Given the description of an element on the screen output the (x, y) to click on. 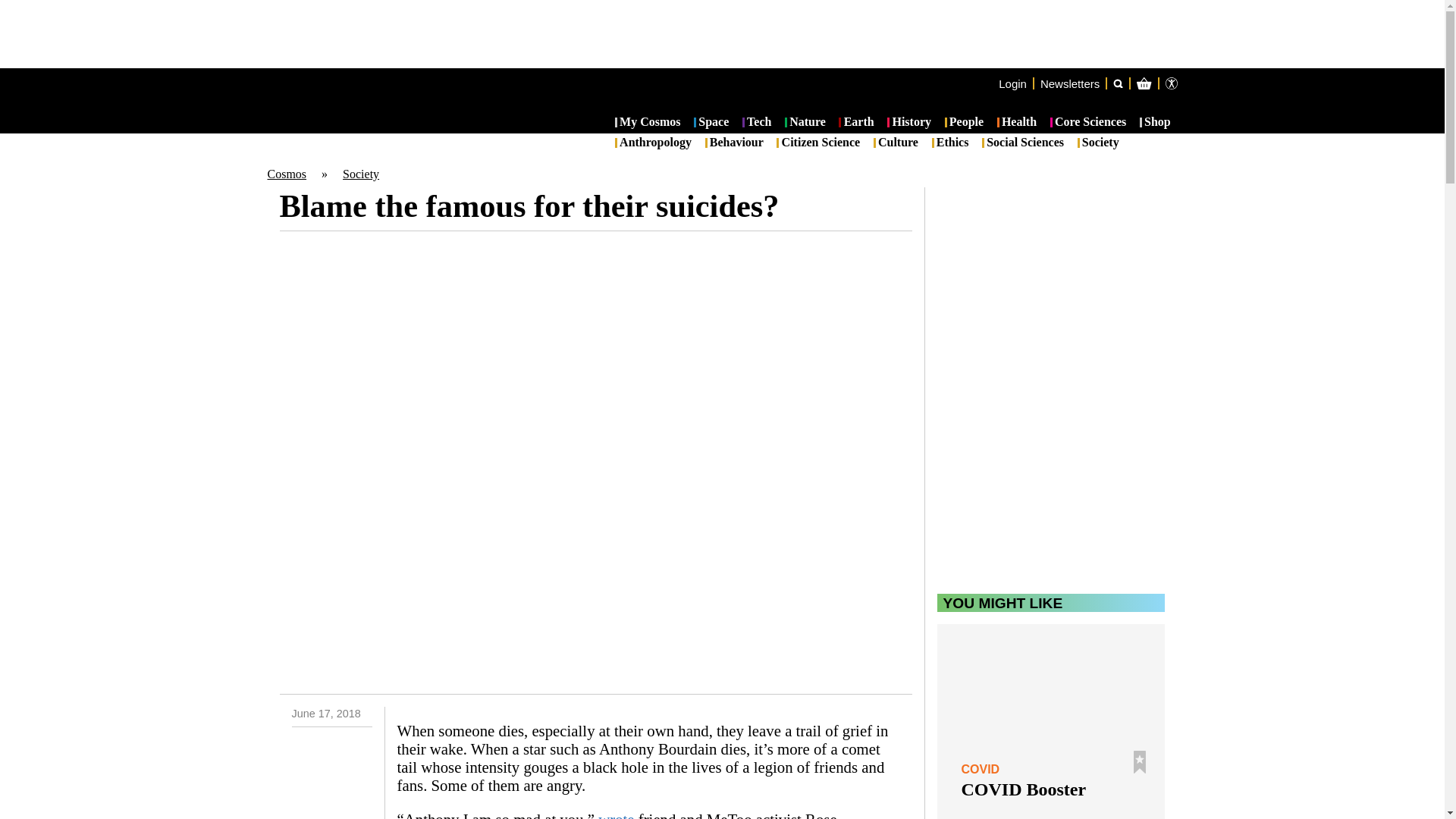
Shop (1155, 122)
Culture (895, 143)
Cart (1227, 144)
Society (360, 173)
Citizen Science (818, 143)
Earth (855, 122)
Login (1012, 82)
History (908, 122)
Society (1098, 143)
Cosmos (285, 173)
